Given the description of an element on the screen output the (x, y) to click on. 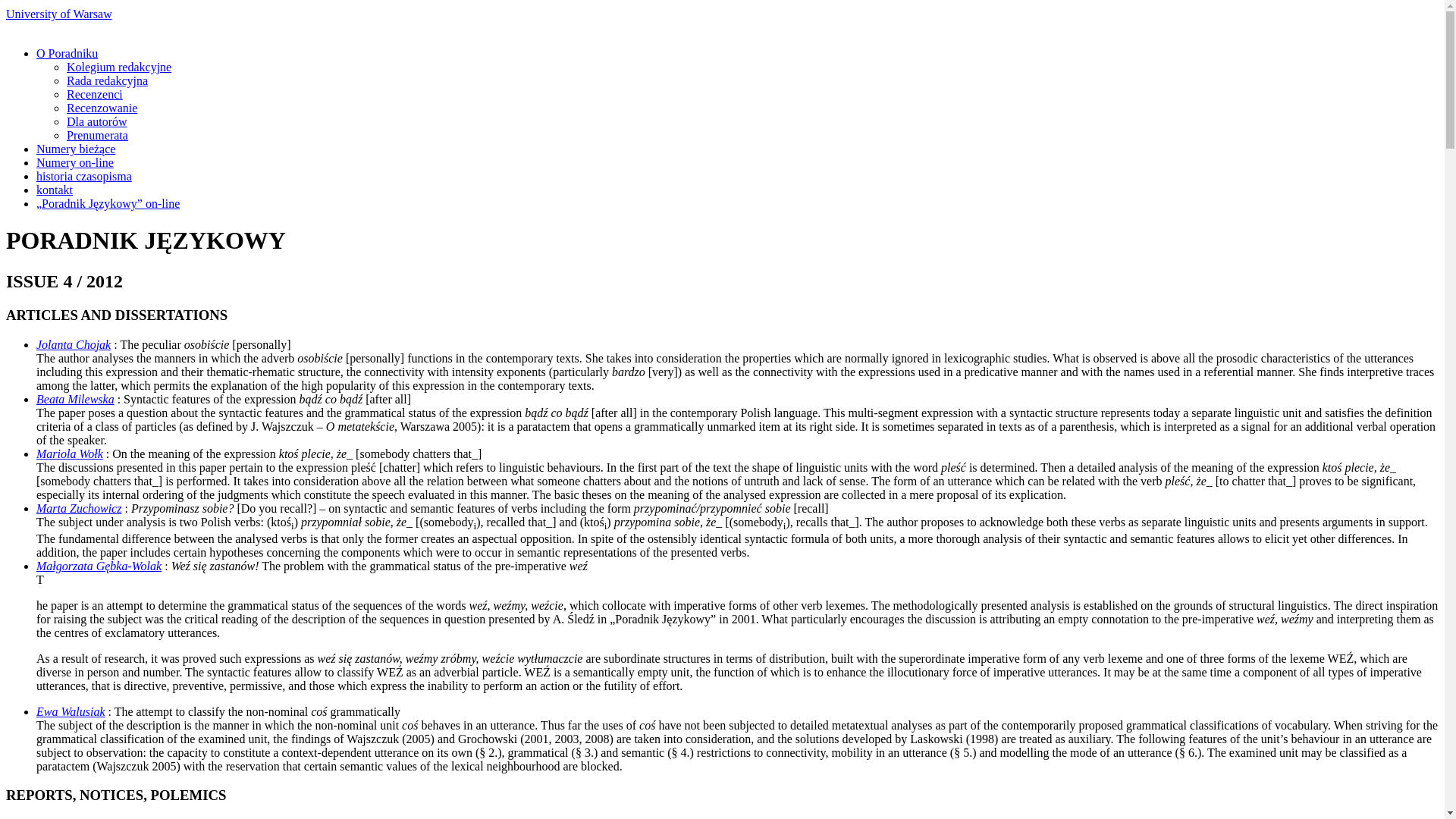
University of Warsaw (58, 13)
historia czasopisma (84, 175)
Kolegium redakcyjne (118, 66)
Beata Milewska (75, 399)
Prenumerata (97, 134)
Recenzowanie (101, 107)
kontakt (54, 189)
Marta Zuchowicz (78, 508)
Numery on-line (74, 162)
Jolanta Chojak (73, 344)
Change language on polish (127, 13)
Rada redakcyjna (107, 80)
Ewa Walusiak (70, 711)
O Poradniku (66, 52)
